Given the description of an element on the screen output the (x, y) to click on. 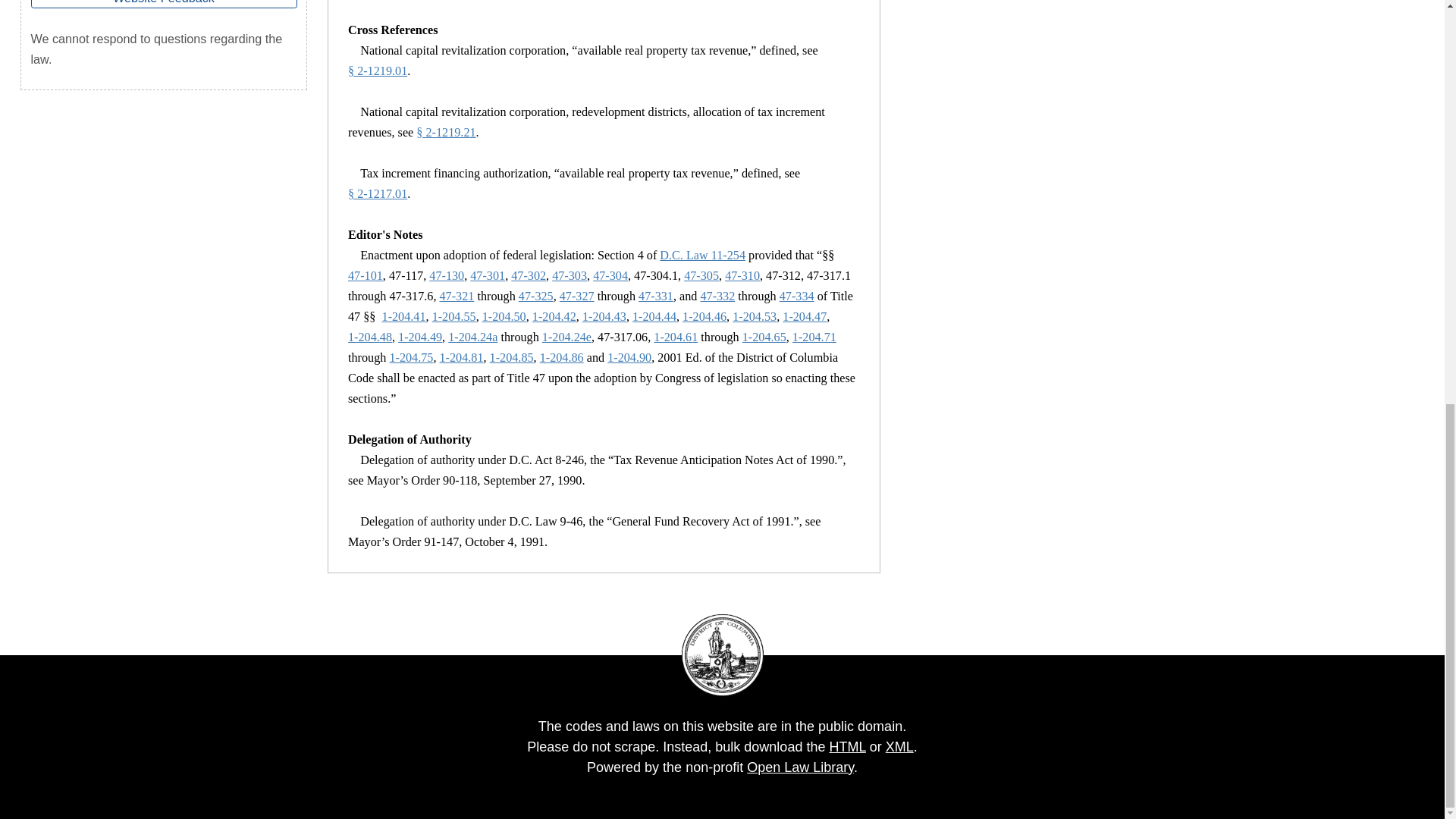
47-310 (742, 275)
47-301 (487, 275)
47-325 (535, 296)
47-327 (576, 296)
47-130 (446, 275)
47-304 (609, 275)
47-303 (568, 275)
47-101 (364, 275)
D.C. Law 11-254 (702, 255)
47-305 (701, 275)
